Given the description of an element on the screen output the (x, y) to click on. 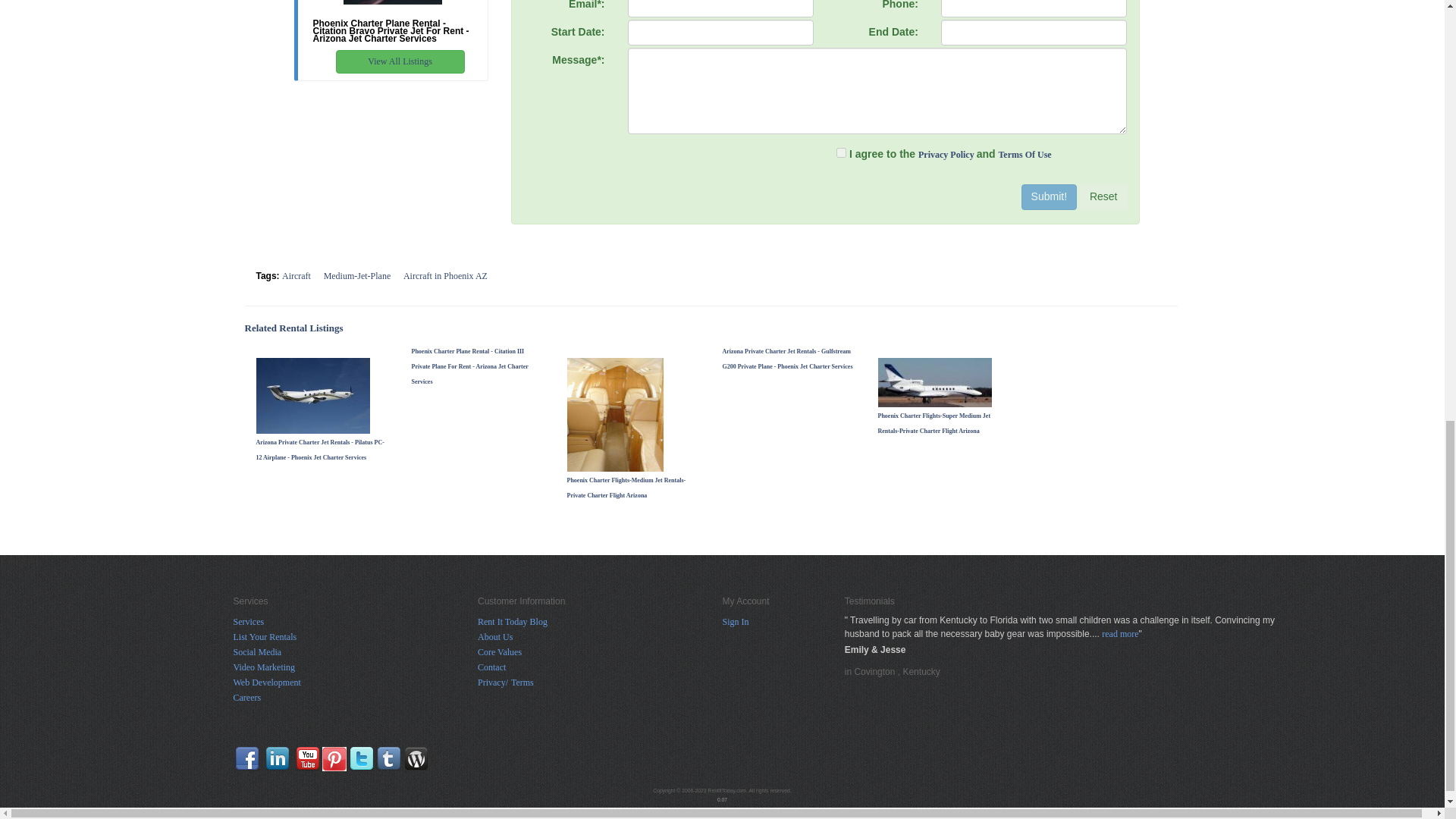
Submit! (1049, 196)
on (840, 153)
Reset (1103, 196)
